Given the description of an element on the screen output the (x, y) to click on. 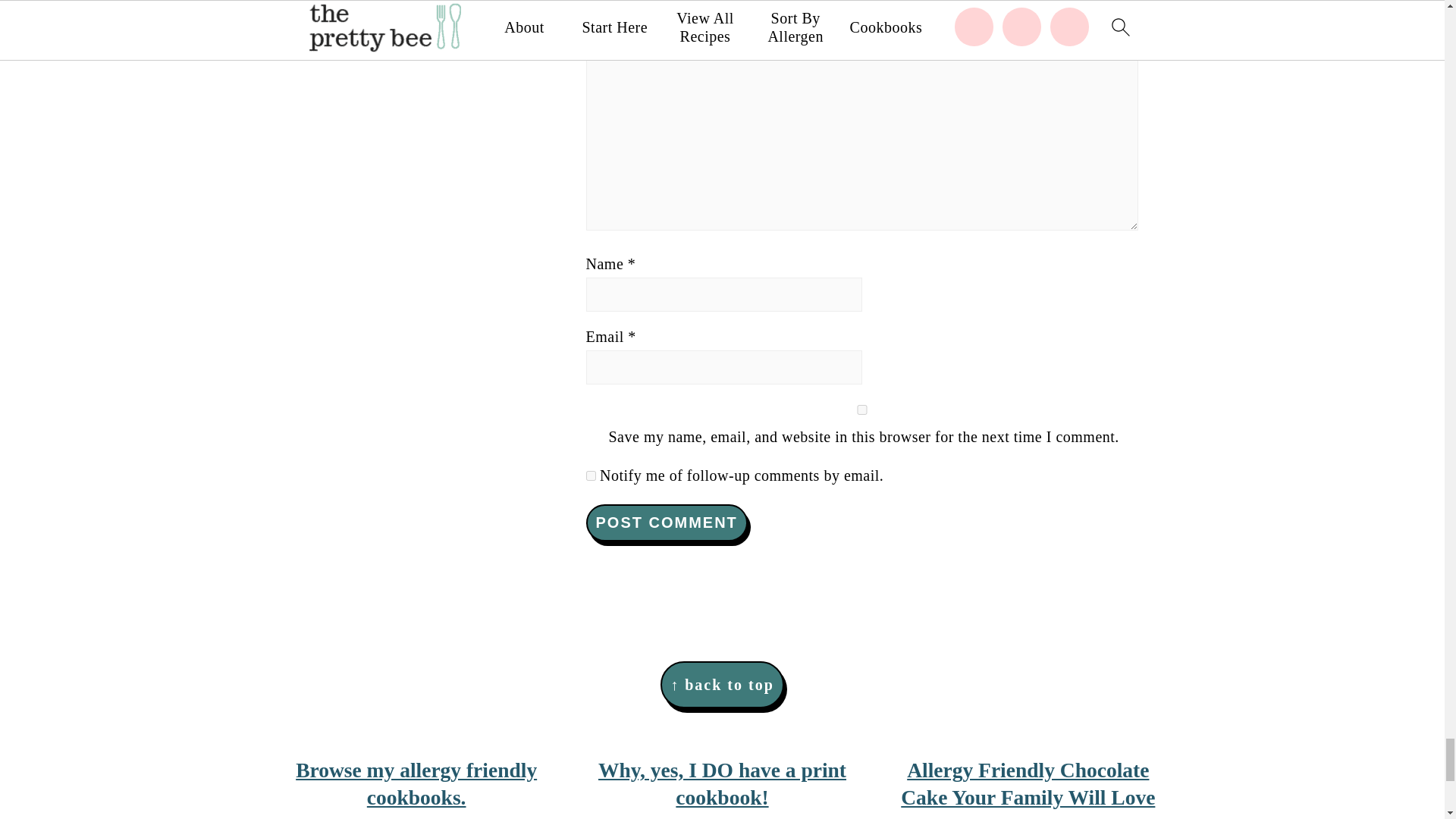
Post Comment (665, 522)
subscribe (590, 475)
yes (861, 409)
